Given the description of an element on the screen output the (x, y) to click on. 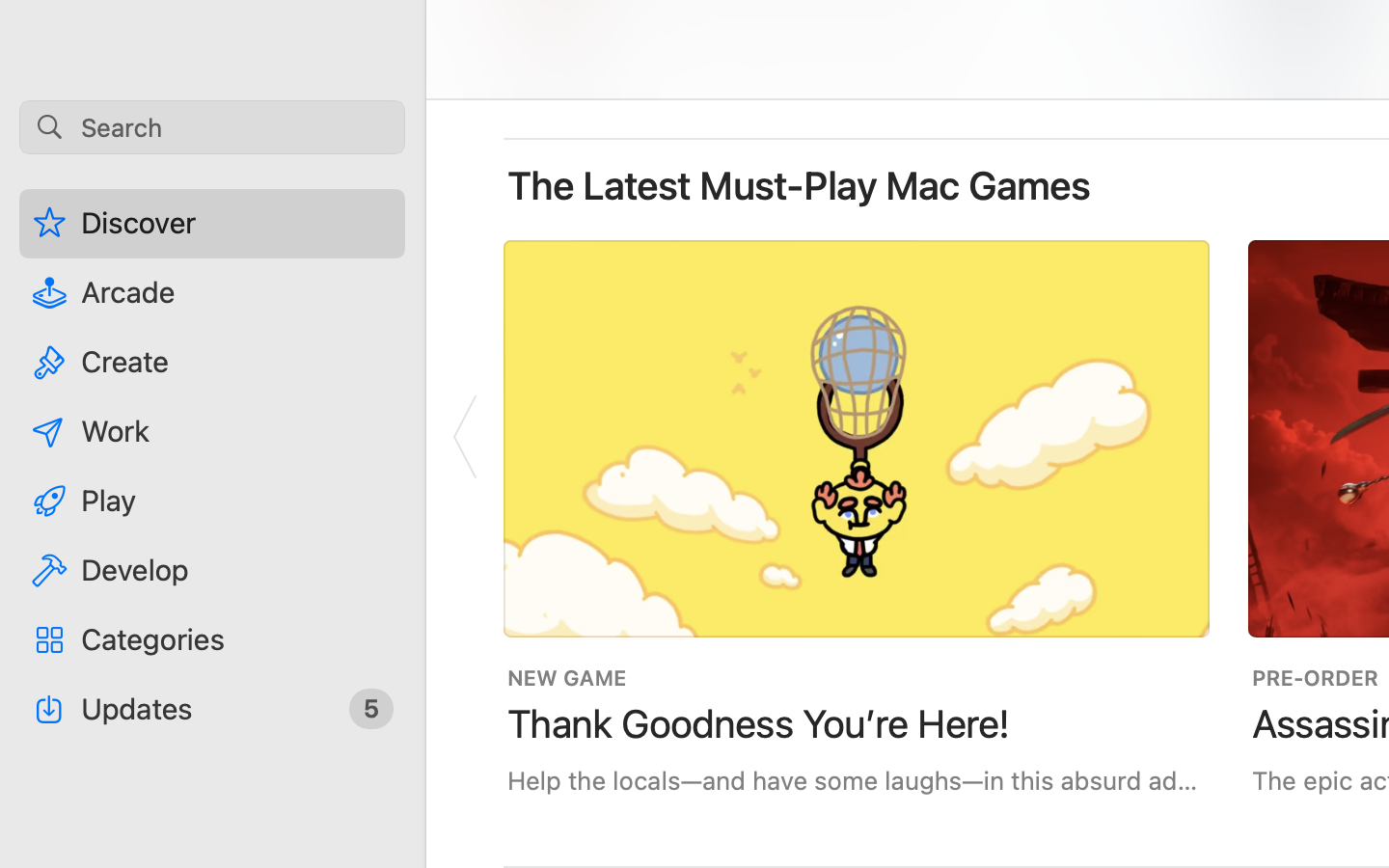
NEW GAME, Thank Goodness You’re Here, Help the locals—and have some laughs—in this absurd adventure Element type: AXStaticText (856, 516)
Thank Goodness You’re Here! Element type: AXStaticText (758, 723)
